Given the description of an element on the screen output the (x, y) to click on. 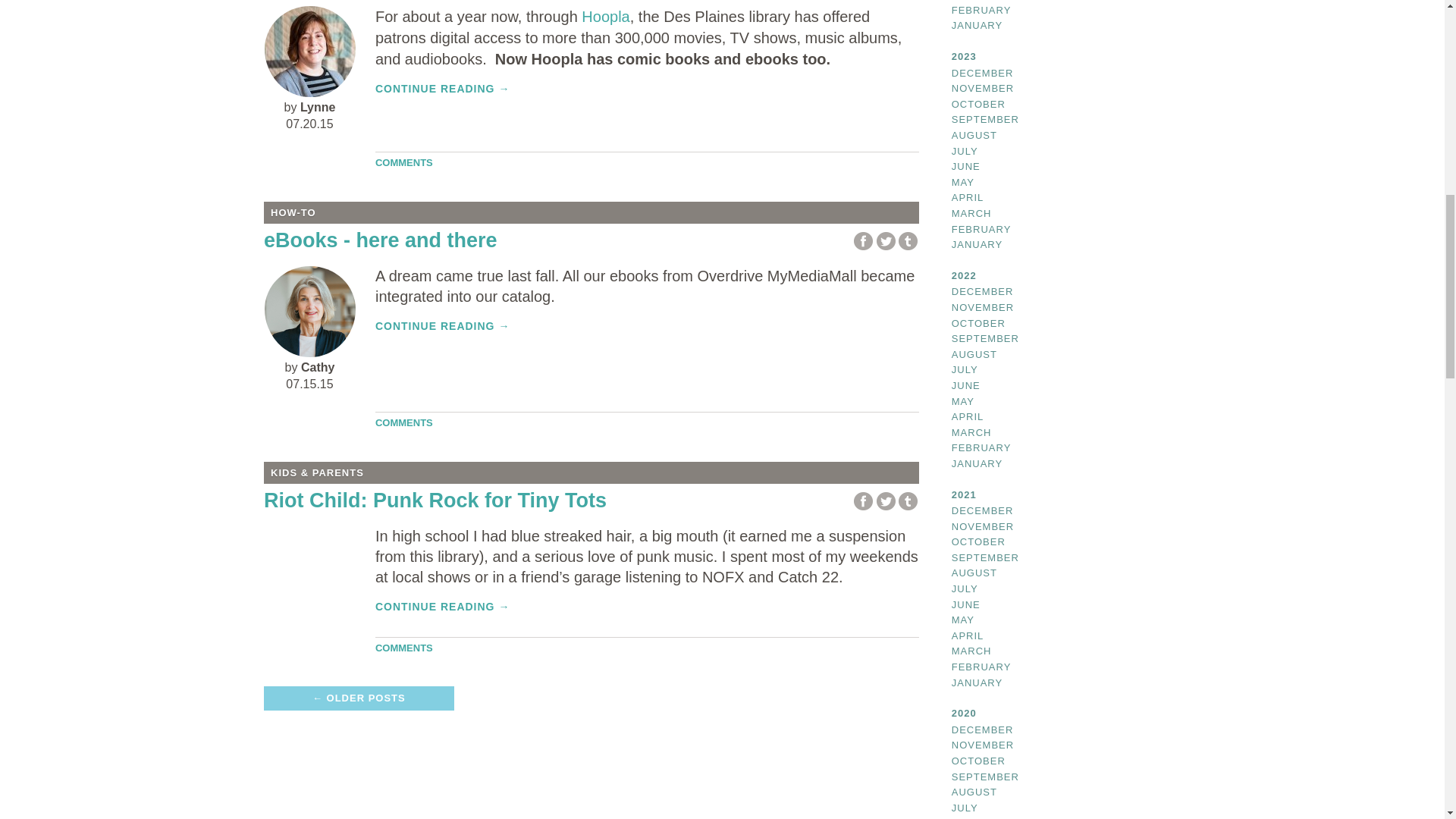
Share on Facebook (862, 240)
Share on Tumblr (907, 501)
Share on Twitter (885, 501)
Share on Tumblr (907, 240)
Share on Twitter (885, 240)
Share on Facebook (862, 501)
